Given the description of an element on the screen output the (x, y) to click on. 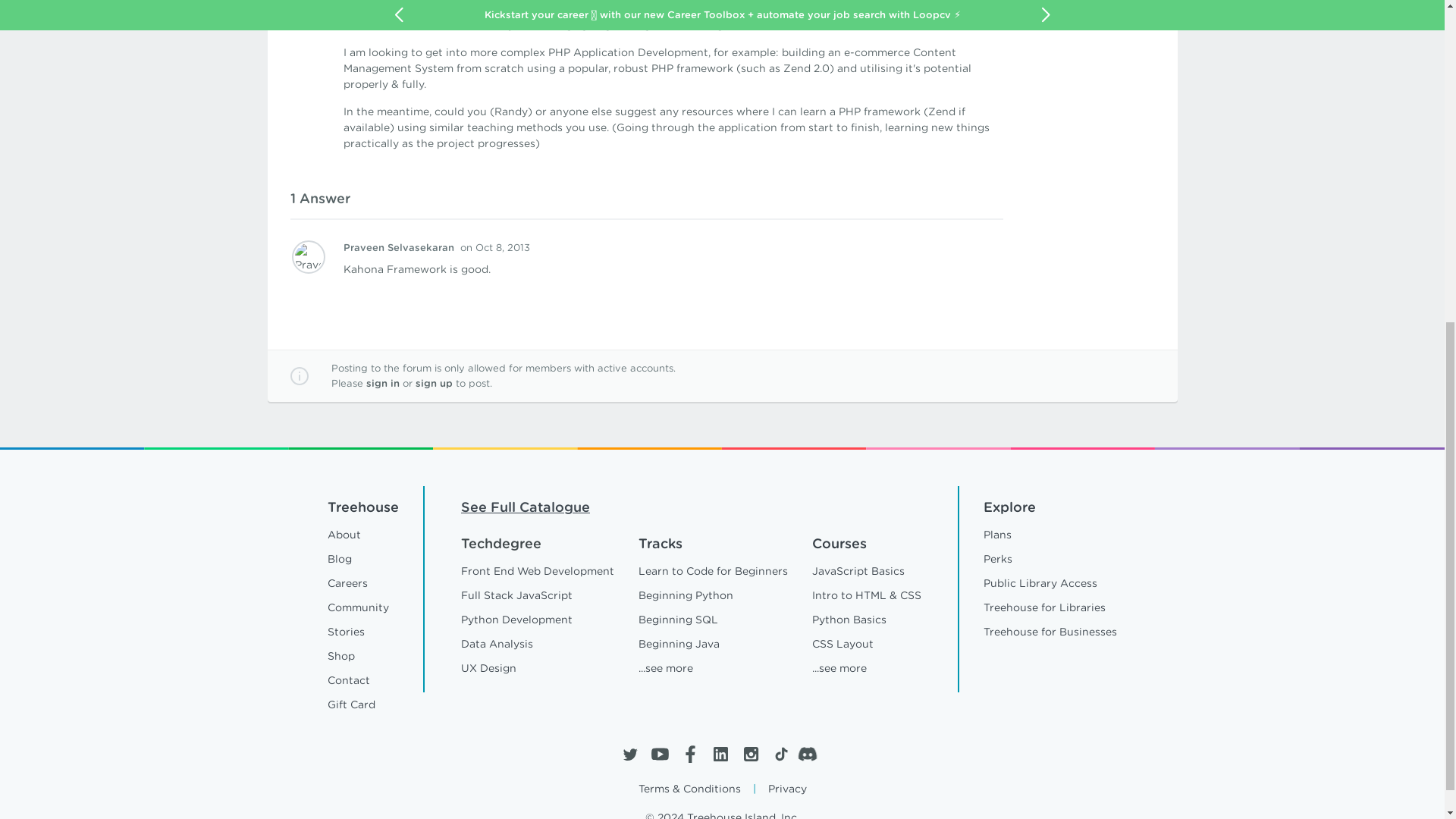
Facebook (690, 754)
October 8, 2013 at 4:17am CST (494, 247)
LinkedIn (719, 754)
YouTube (659, 754)
LinkedIn (719, 754)
YouTube (659, 754)
Twitter (628, 754)
Instagram (749, 754)
Discord (810, 754)
Instagram (749, 754)
Twitter (628, 754)
Facebook (690, 754)
TikTok (780, 754)
